Given the description of an element on the screen output the (x, y) to click on. 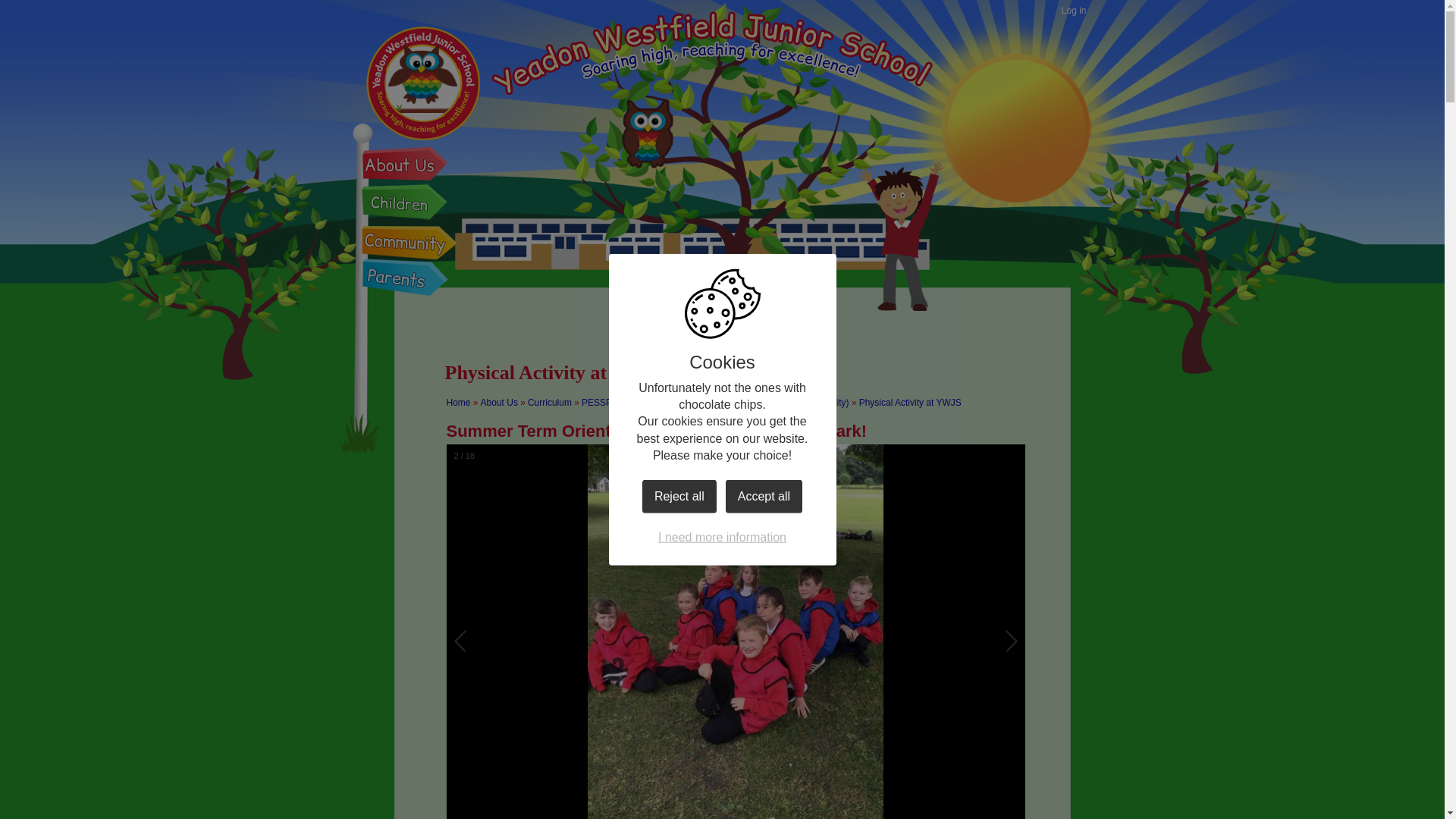
About Us (499, 402)
Physical Activity at YWJS (909, 402)
About Us (407, 167)
Home (457, 402)
Home Page (421, 82)
Log in (1073, 11)
Home Page (421, 82)
Curriculum (549, 402)
